Given the description of an element on the screen output the (x, y) to click on. 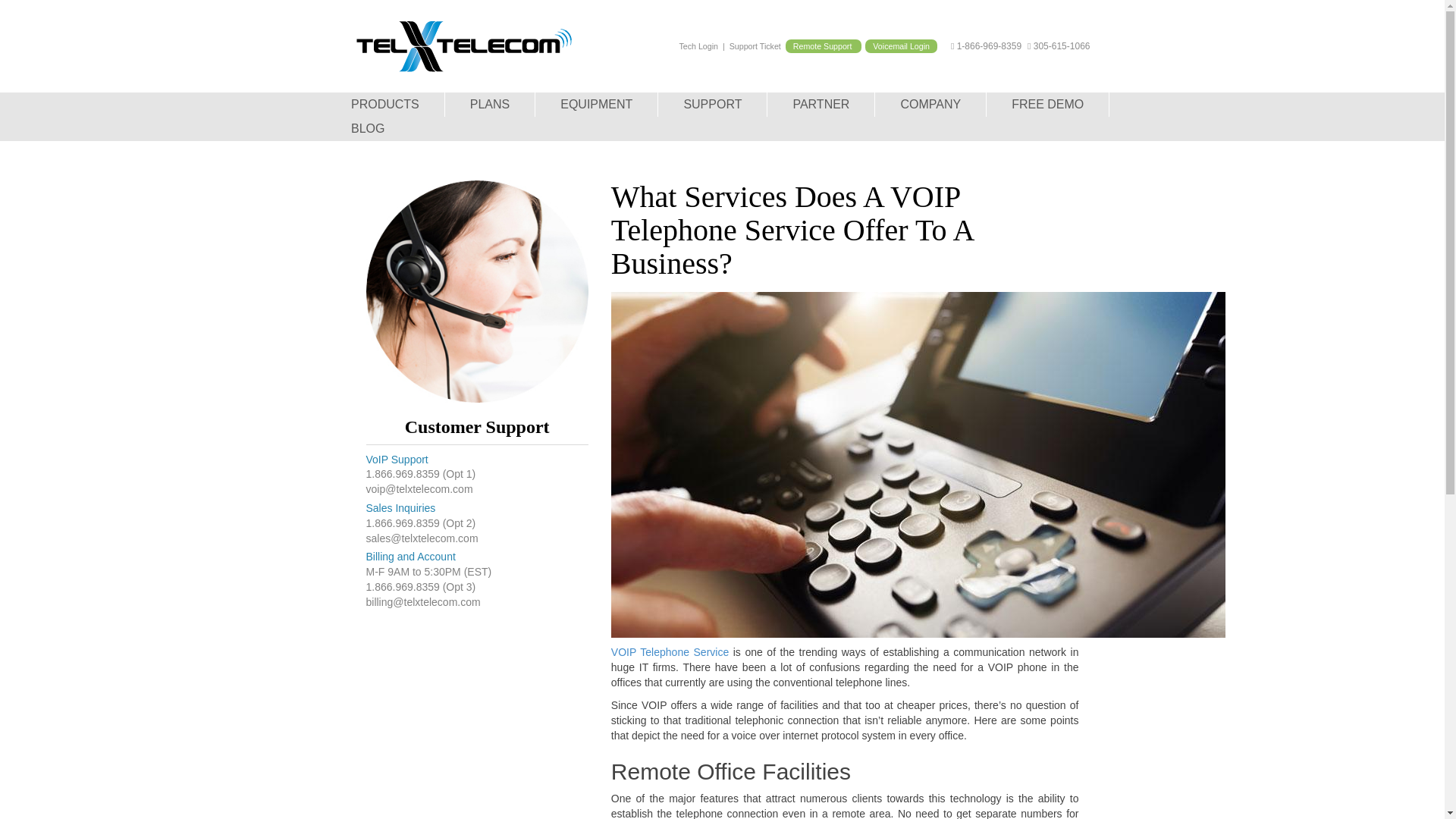
PRODUCTS (385, 104)
FREE DEMO (1048, 104)
PLANS (490, 104)
PARTNER (821, 104)
Remote Support (823, 46)
Voicemail Login (900, 46)
EQUIPMENT (596, 104)
COMPANY (931, 104)
BLOG (367, 128)
Tech Login (699, 46)
